Given the description of an element on the screen output the (x, y) to click on. 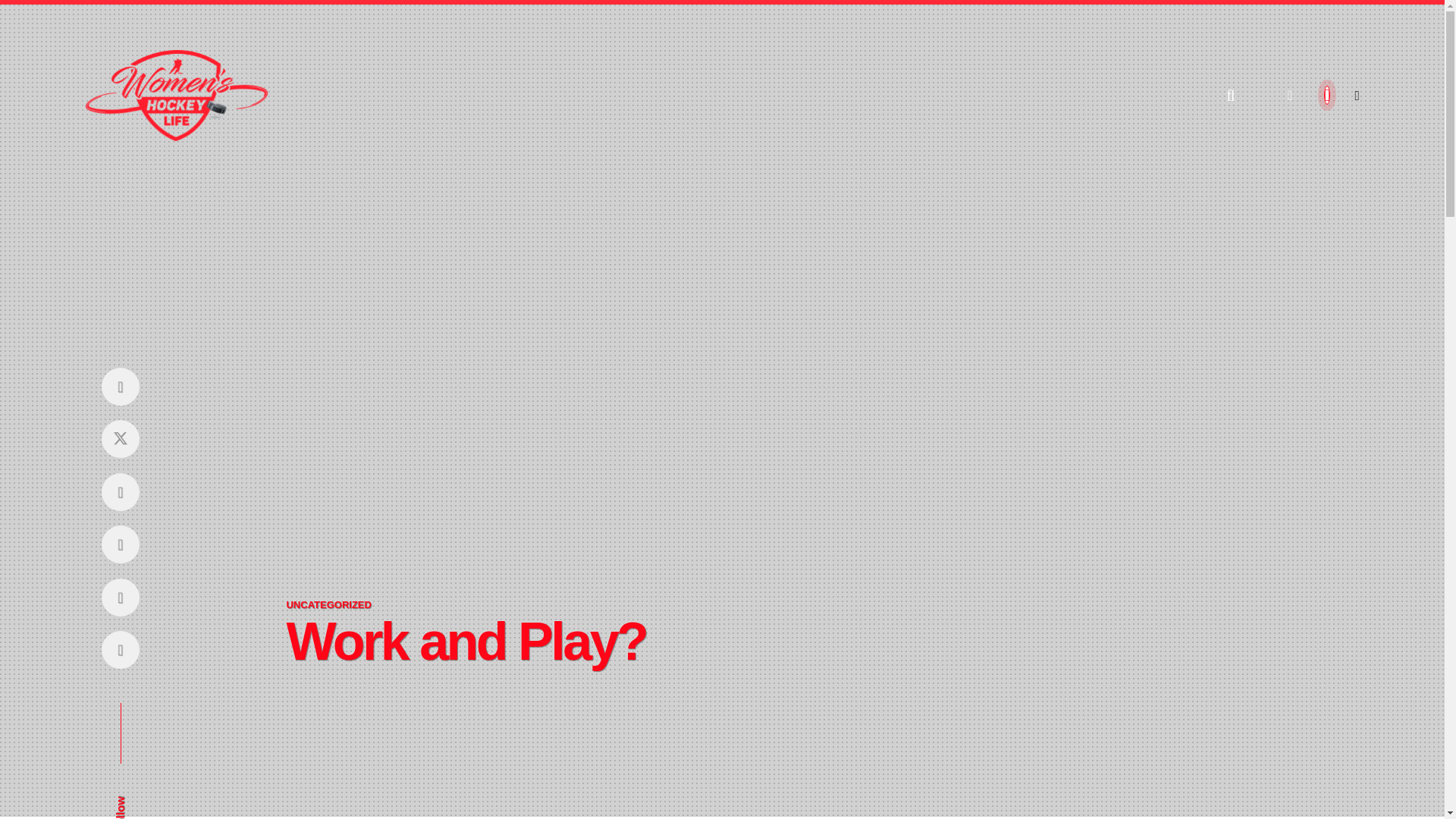
Twitter (119, 438)
LinkedIn (119, 596)
Facebook (119, 385)
YouTube (119, 543)
TikTok (119, 650)
Instagram (119, 491)
UNCATEGORIZED (328, 604)
